Given the description of an element on the screen output the (x, y) to click on. 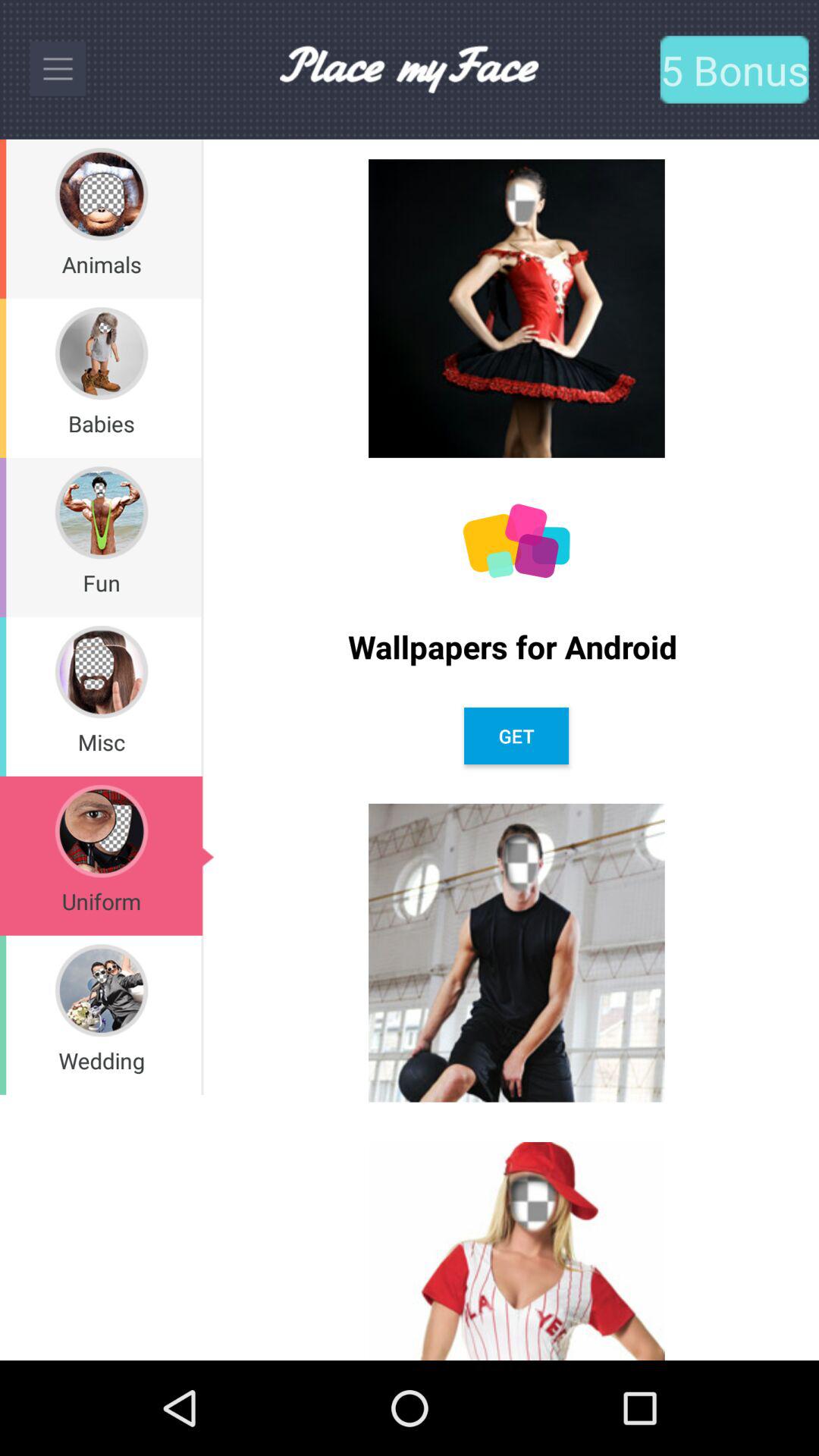
swipe until animals app (101, 264)
